Given the description of an element on the screen output the (x, y) to click on. 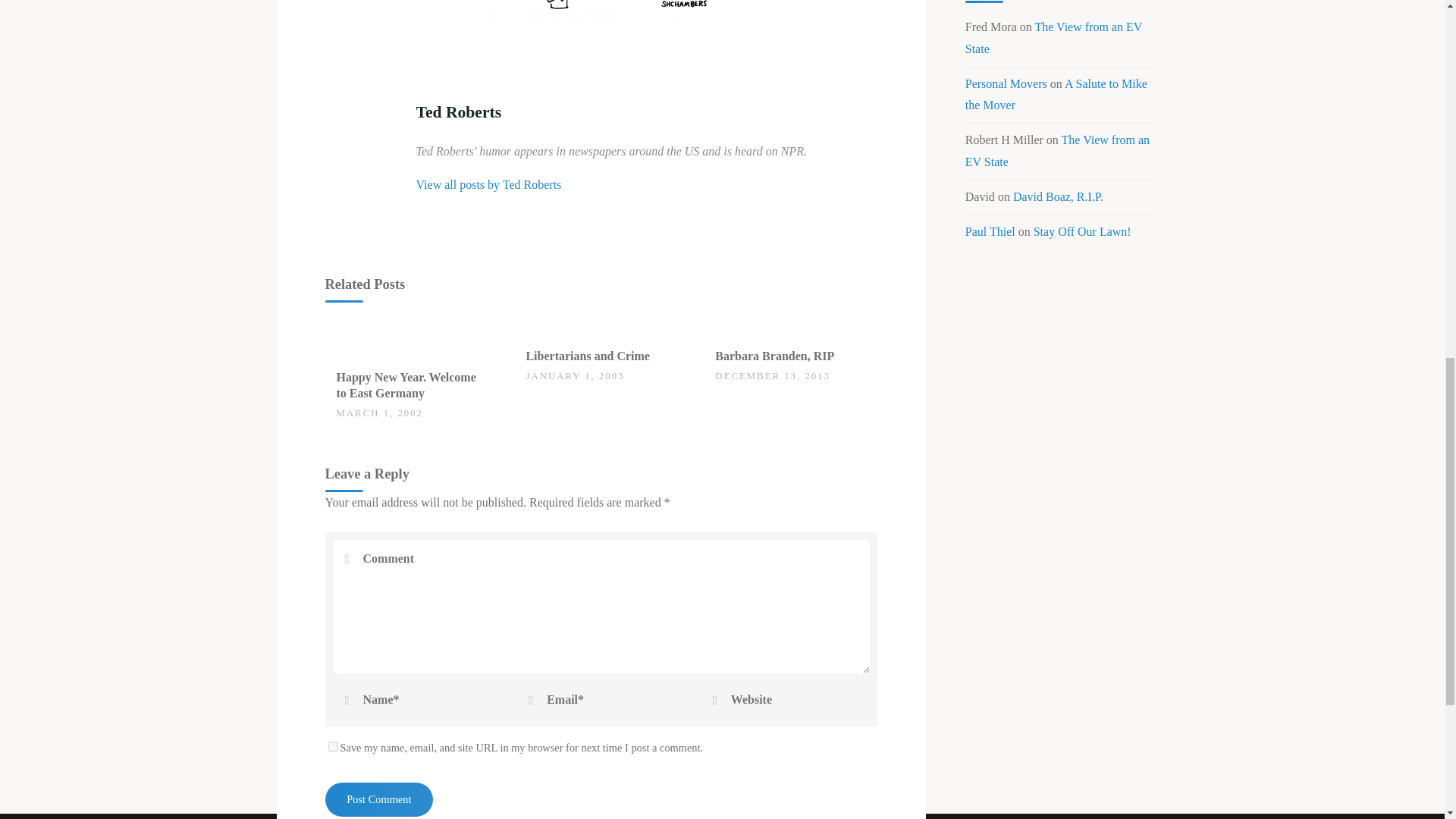
Page 10 (600, 12)
yes (332, 746)
0 (344, 370)
Page 10 (600, 12)
Libertarians and Crime (587, 355)
Happy New Year. Welcome to East Germany (410, 336)
View all posts by Ted Roberts (487, 184)
Post Comment (378, 799)
0 (533, 348)
Happy New Year. Welcome to East Germany (406, 385)
Page 10 (600, 12)
